Given the description of an element on the screen output the (x, y) to click on. 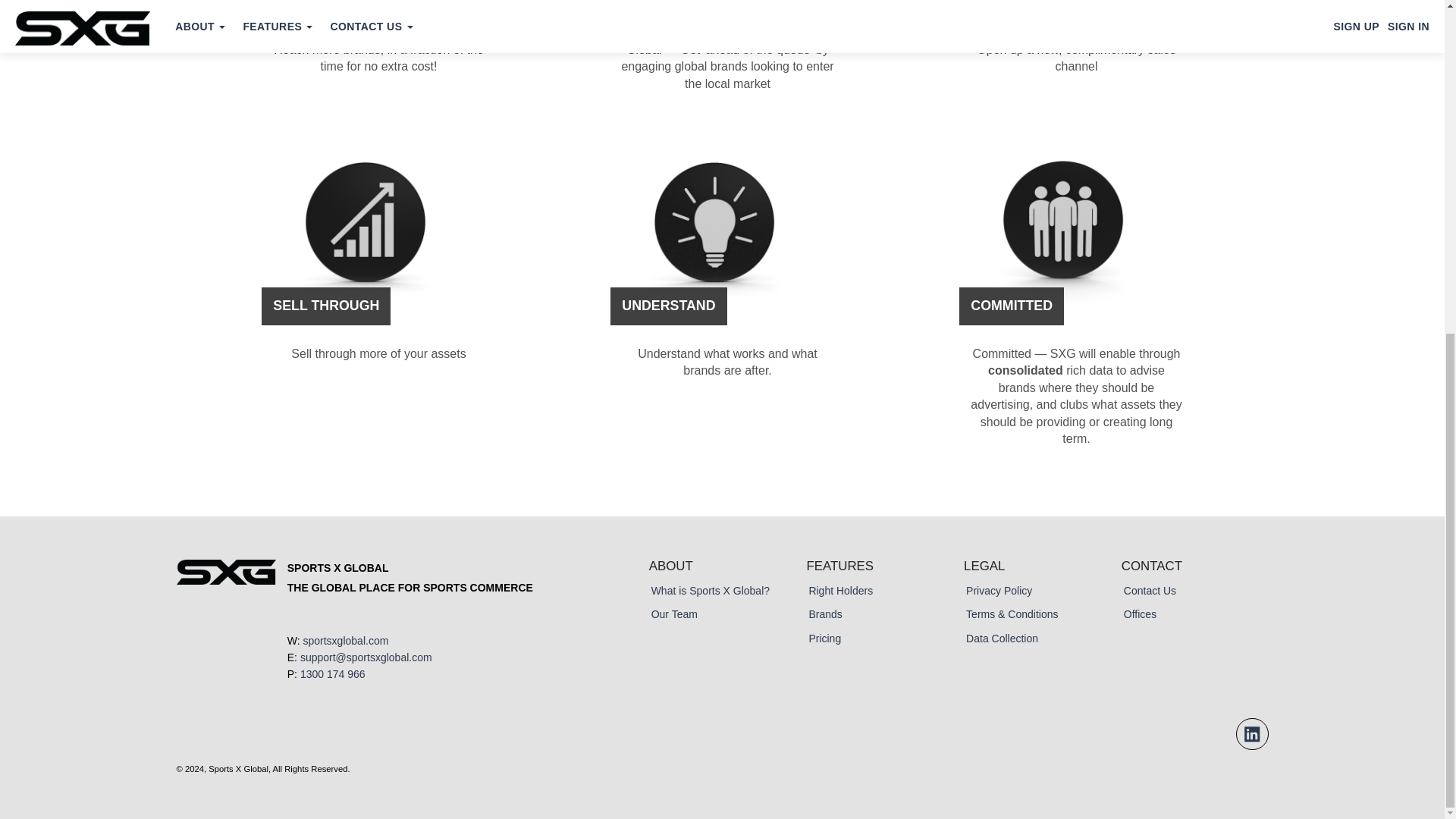
Right Holders (840, 590)
Brands (824, 613)
Our Team (673, 613)
Contact Us (1150, 590)
sportsxglobal.com (345, 640)
1300 174 966 (332, 674)
Data Collection (1002, 638)
What is Sports X Global? (710, 590)
Offices (1140, 613)
Privacy Policy (999, 590)
Pricing (824, 638)
